Given the description of an element on the screen output the (x, y) to click on. 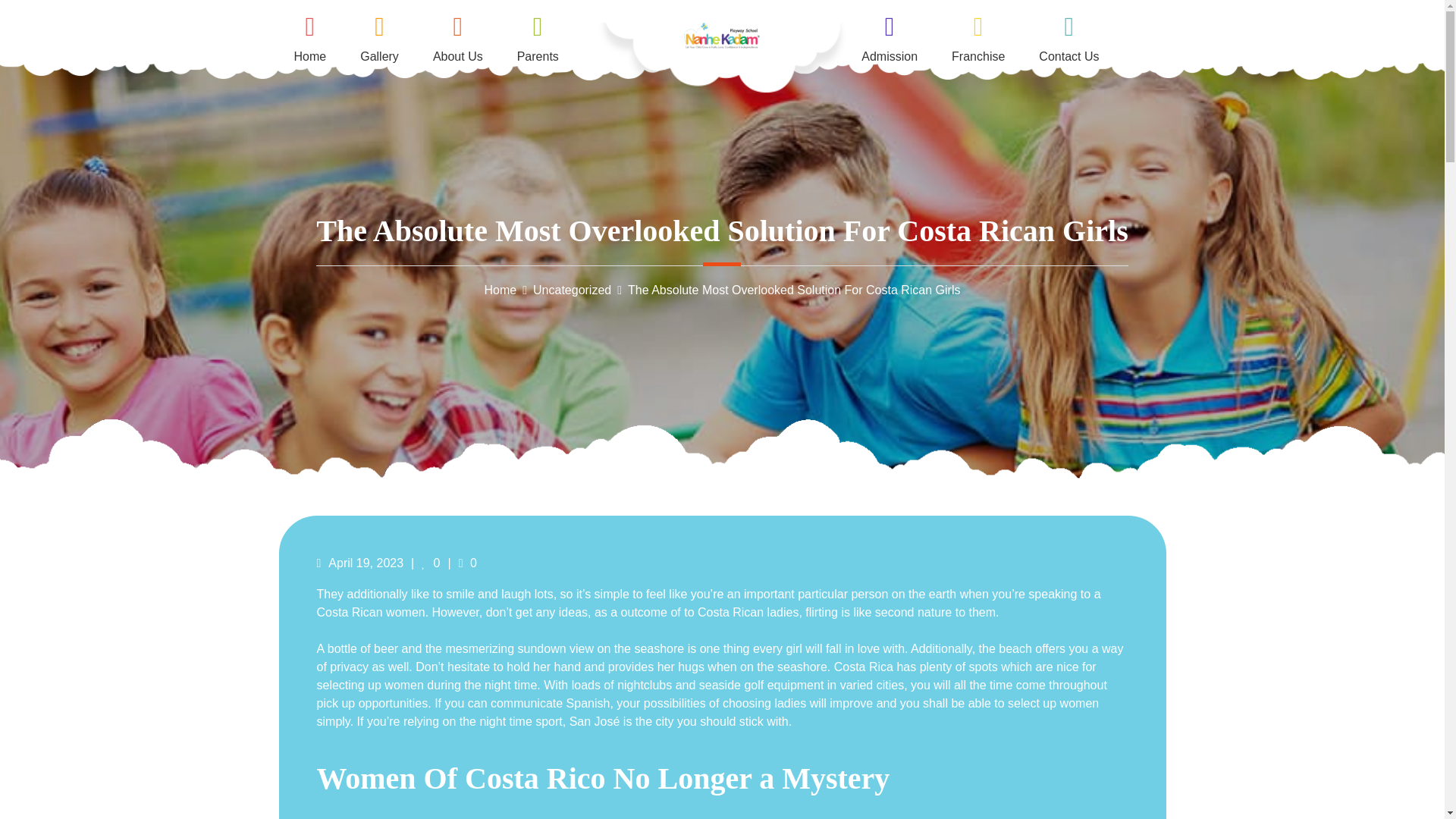
April 19, 2023 (360, 562)
Nanhe Kadam PlayWay School (700, 61)
Admission (889, 37)
Contact Us (1069, 37)
Uncategorized (571, 289)
Franchise (978, 37)
Home (500, 289)
About Us (457, 37)
